Given the description of an element on the screen output the (x, y) to click on. 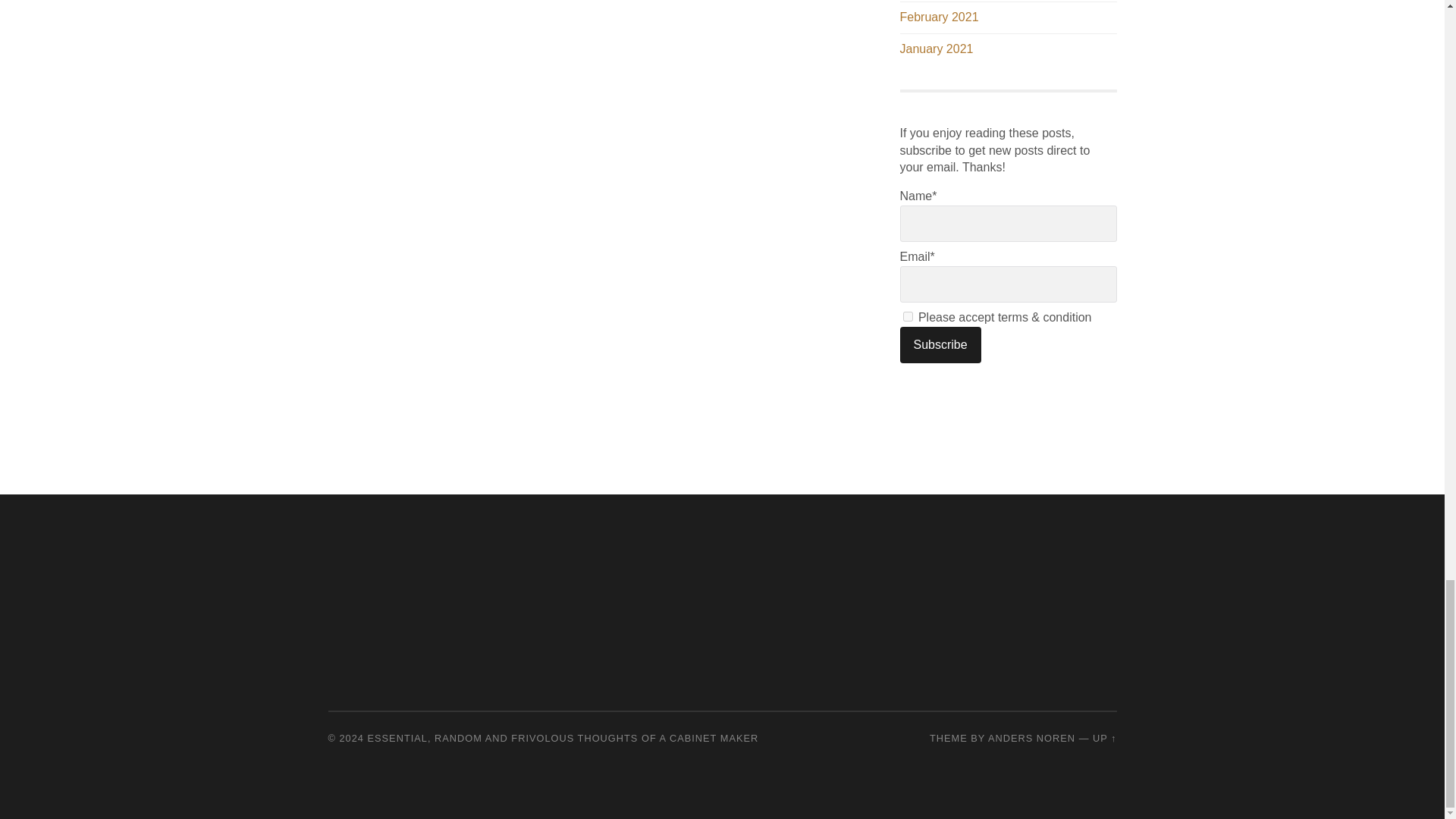
true (907, 316)
To the top (1104, 737)
Subscribe (939, 344)
